Given the description of an element on the screen output the (x, y) to click on. 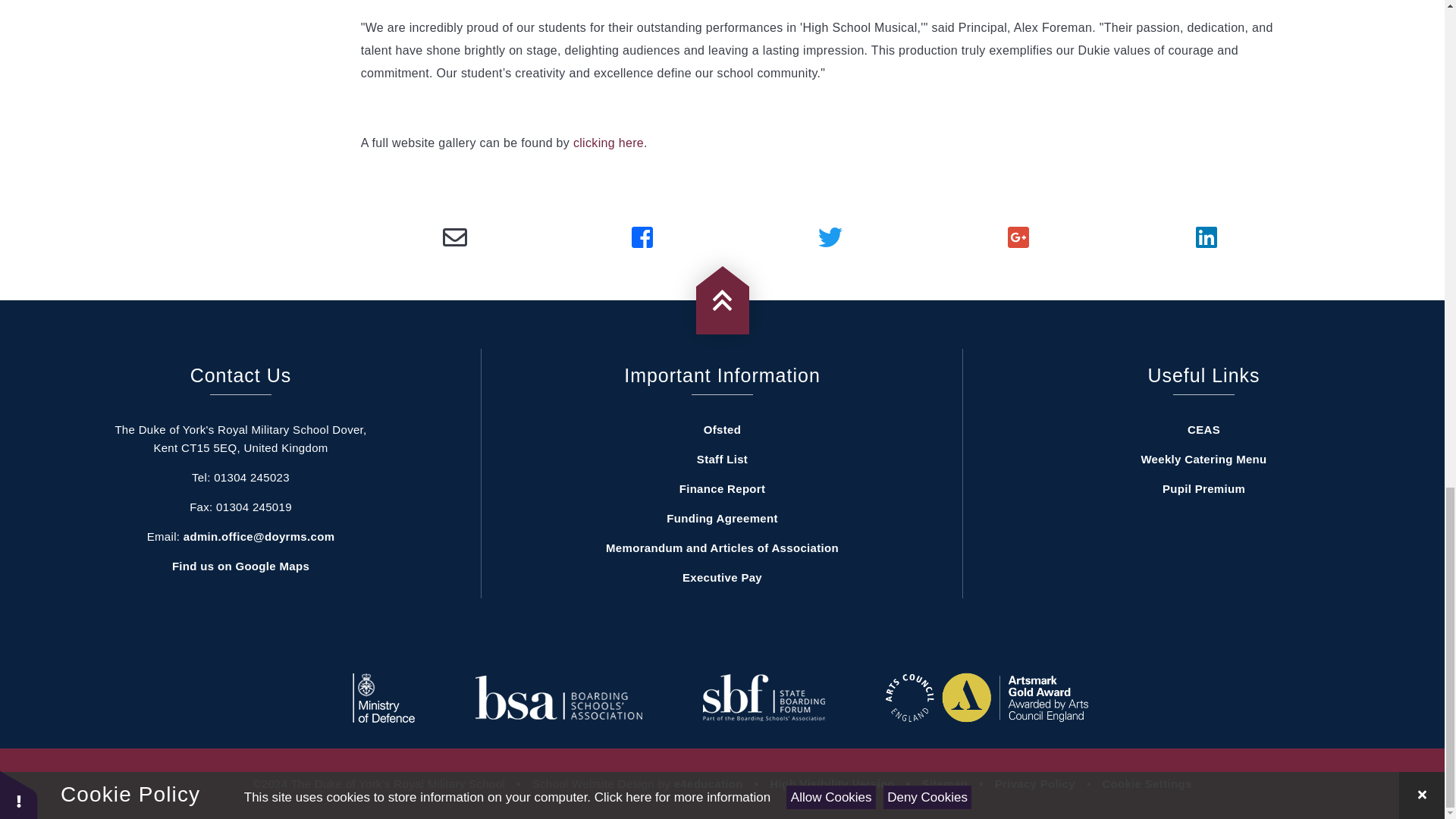
Ministry of Defence (383, 697)
State Boarding Forum (764, 697)
Artsmark (986, 696)
Cookie Settings (1146, 783)
Boarding Schools' Association (559, 697)
